Given the description of an element on the screen output the (x, y) to click on. 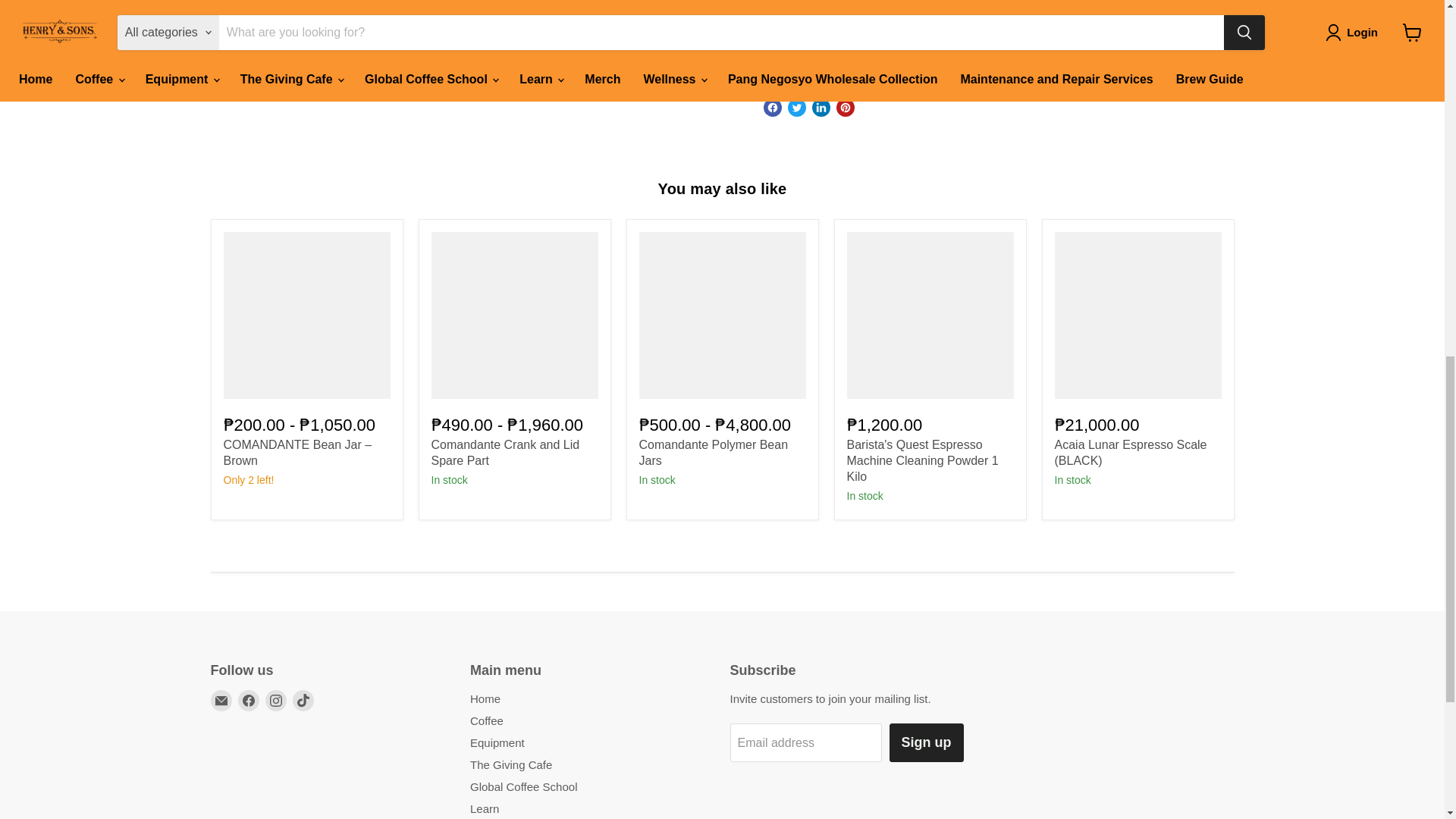
1 (839, 42)
Instagram (275, 700)
Facebook (248, 700)
Email (221, 700)
TikTok (303, 700)
